Given the description of an element on the screen output the (x, y) to click on. 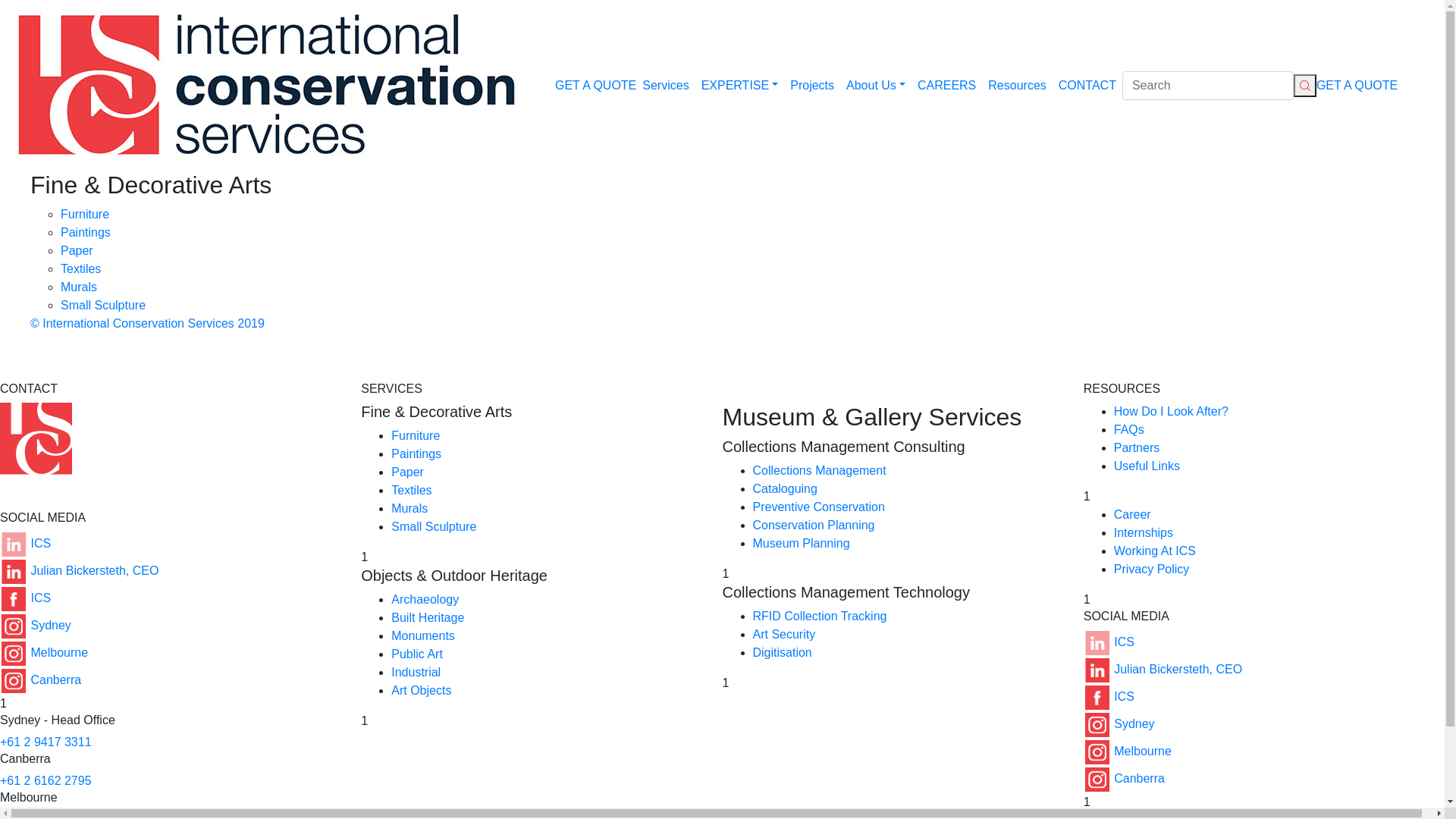
Privacy Policy Element type: text (1151, 568)
Partners Element type: text (1136, 447)
Monuments Element type: text (423, 635)
Furniture Element type: text (415, 435)
Textiles Element type: text (80, 268)
Sydney Element type: text (1118, 723)
Murals Element type: text (78, 286)
Paintings Element type: text (416, 453)
Career Element type: text (1132, 514)
Canberra Element type: text (40, 679)
Working At ICS Element type: text (1154, 550)
ICS Element type: text (25, 542)
Museum Planning Element type: text (800, 542)
Search Element type: hover (1207, 85)
Melbourne Element type: text (43, 652)
Small Sculpture Element type: text (102, 304)
Sydney Element type: text (35, 624)
Small Sculpture Element type: text (433, 526)
Projects Element type: text (812, 84)
How Do I Look After? Element type: text (1170, 410)
Paintings Element type: text (85, 231)
Collections Management Element type: text (818, 470)
Services Element type: text (665, 84)
ICS Element type: text (1108, 641)
Art Objects Element type: text (421, 690)
Melbourne Element type: text (1127, 750)
About Us Element type: text (875, 84)
Built Heritage Element type: text (427, 617)
Useful Links Element type: text (1146, 465)
Industrial Element type: text (415, 671)
GET A QUOTE Element type: text (595, 84)
FAQs Element type: text (1128, 429)
Julian Bickersteth, CEO Element type: text (1162, 668)
Textiles Element type: text (411, 489)
Canberra Element type: text (1123, 777)
CONTACT Element type: text (1087, 84)
ICS Element type: text (25, 597)
Internships Element type: text (1143, 532)
Resources Element type: text (1016, 84)
ICS Element type: text (1108, 696)
Conservation Planning Element type: text (813, 524)
Art Security Element type: text (783, 633)
GET A QUOTE Element type: text (1356, 84)
Cataloguing Element type: text (784, 488)
CAREERS Element type: text (946, 84)
Digitisation Element type: text (781, 652)
Julian Bickersteth, CEO Element type: text (79, 570)
Paper Element type: text (76, 250)
Archaeology Element type: text (424, 599)
Preventive Conservation Element type: text (818, 506)
Paper Element type: text (407, 471)
EXPERTISE Element type: text (739, 84)
Murals Element type: text (409, 508)
+61 2 9417 3311 Element type: text (45, 741)
+61 2 6162 2795 Element type: text (45, 780)
Furniture Element type: text (84, 213)
Public Art Element type: text (416, 653)
RFID Collection Tracking Element type: text (819, 615)
